Given the description of an element on the screen output the (x, y) to click on. 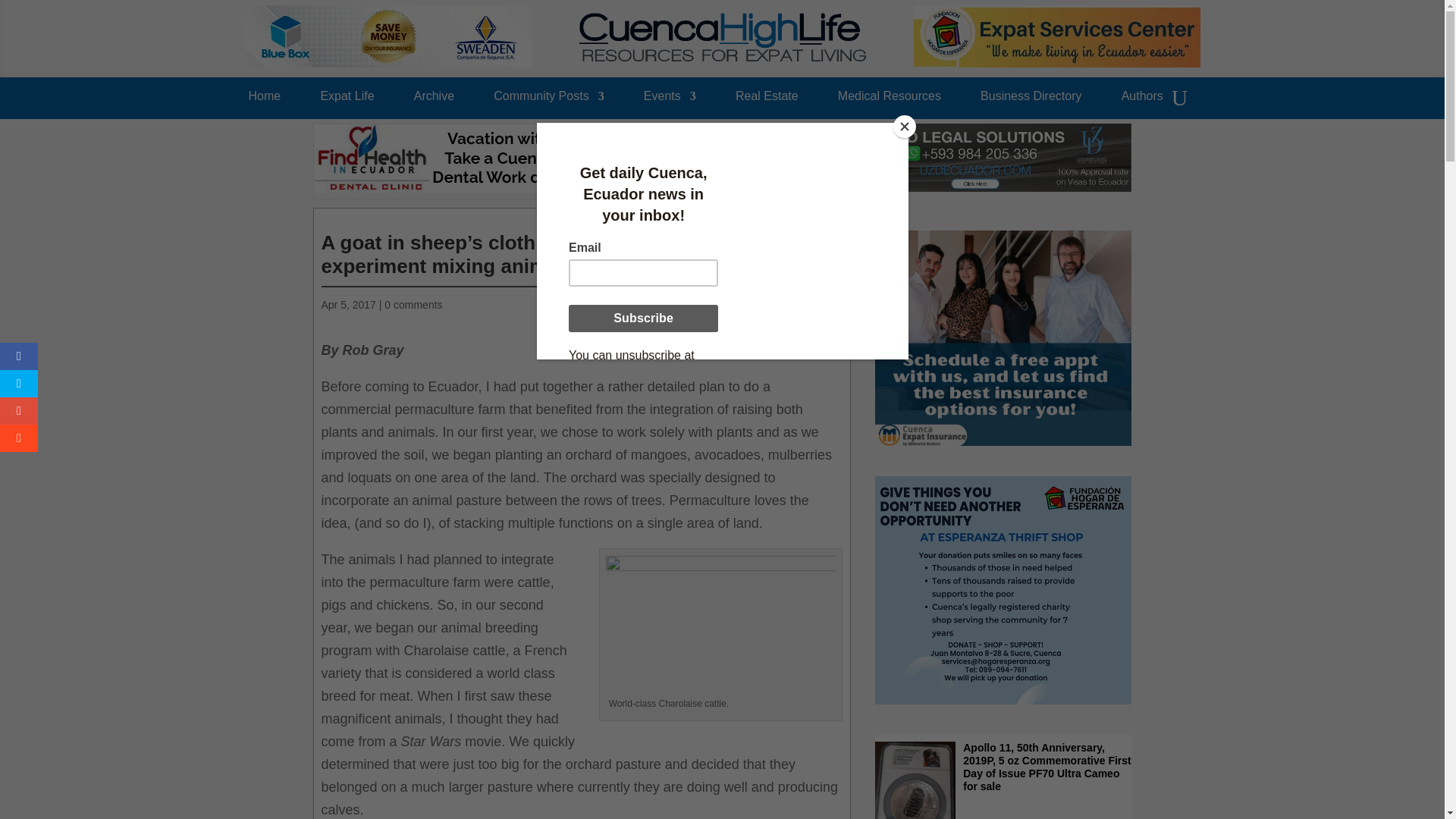
icon-cuencahighlife (824, 219)
Authors (1142, 100)
0 comments (413, 304)
Expat Life (347, 100)
Events (669, 100)
Real Estate (766, 100)
Archive (433, 100)
Home (264, 100)
logo-chl-2 (722, 37)
Business Directory (1030, 100)
Community Posts (548, 100)
Medical Resources (889, 100)
